Given the description of an element on the screen output the (x, y) to click on. 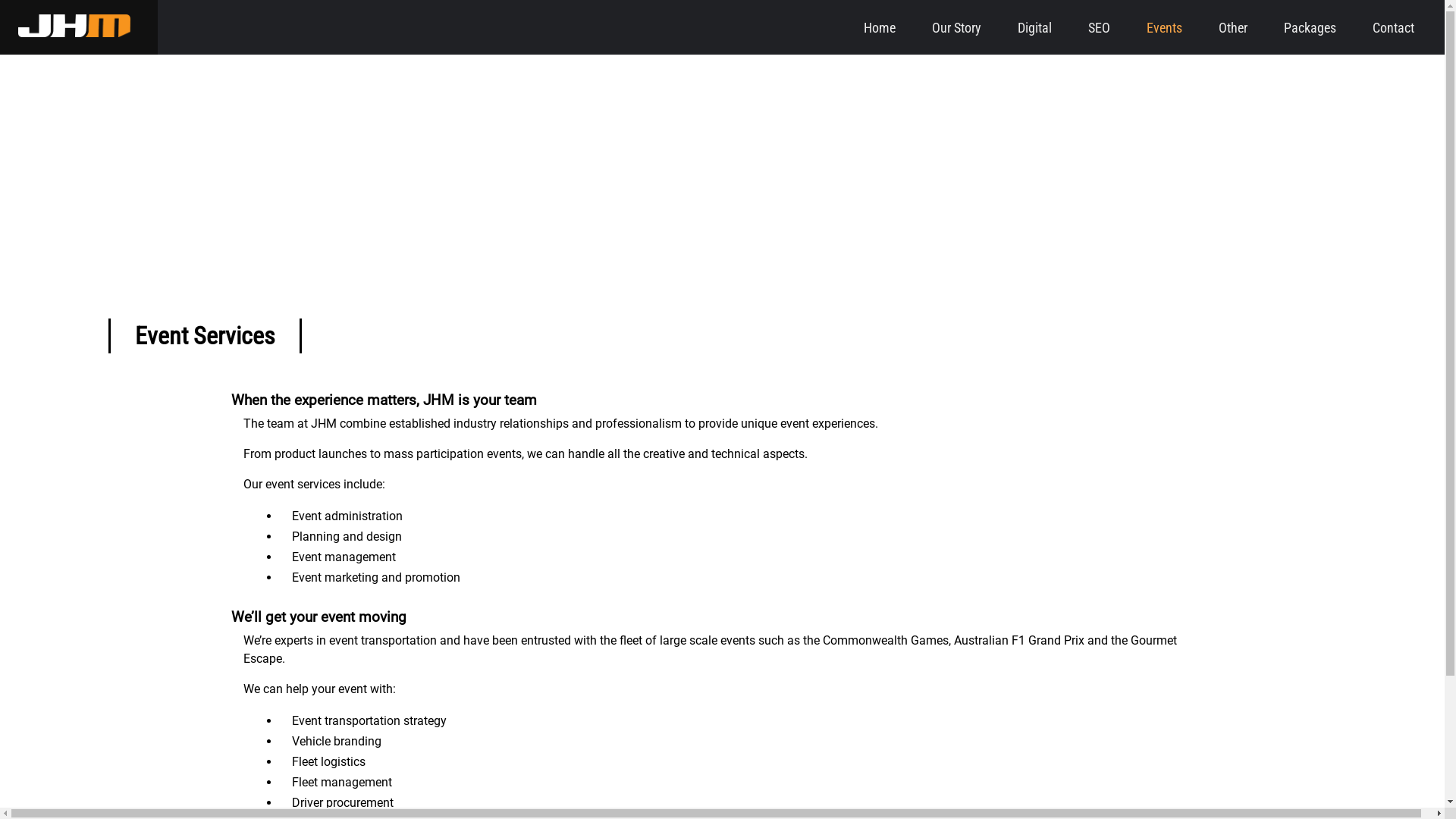
Digital Element type: text (1034, 27)
Home Element type: text (879, 27)
Events Element type: text (1164, 27)
SEO Element type: text (1099, 27)
Packages Element type: text (1309, 27)
Our Story Element type: text (956, 27)
Contact Element type: text (1393, 27)
Other Element type: text (1232, 27)
